Given the description of an element on the screen output the (x, y) to click on. 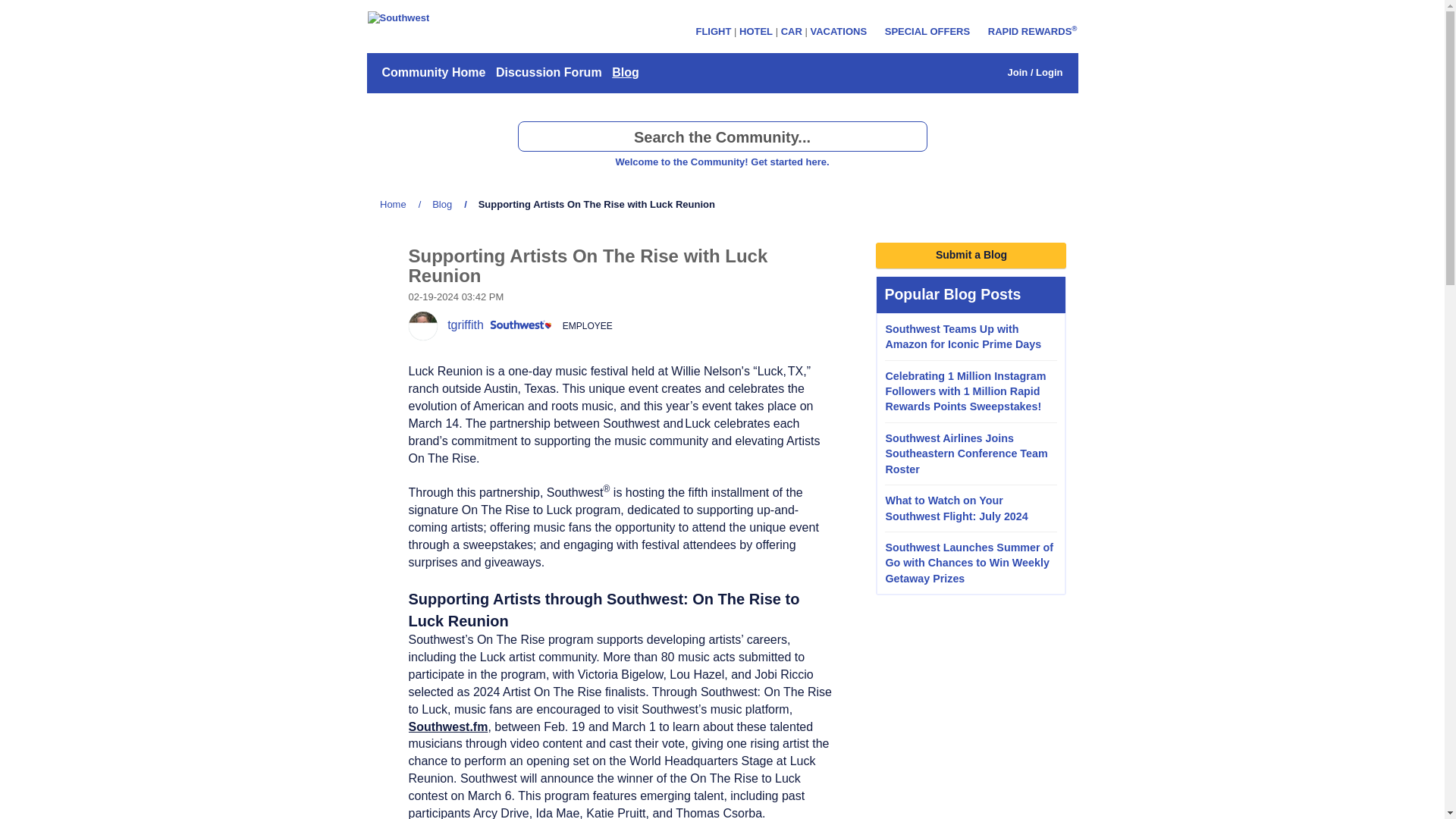
Search (911, 136)
Search (911, 136)
Search (721, 136)
Community Home (433, 73)
Welcome to the Community! Get started here. (721, 161)
Blog (442, 204)
SPECIAL OFFERS (927, 30)
FLIGHT (712, 30)
tgriffith (421, 326)
HOTEL (756, 30)
Discussion Forum (548, 73)
Employee (520, 324)
Home (393, 204)
VACATIONS (837, 30)
CAR (791, 30)
